Given the description of an element on the screen output the (x, y) to click on. 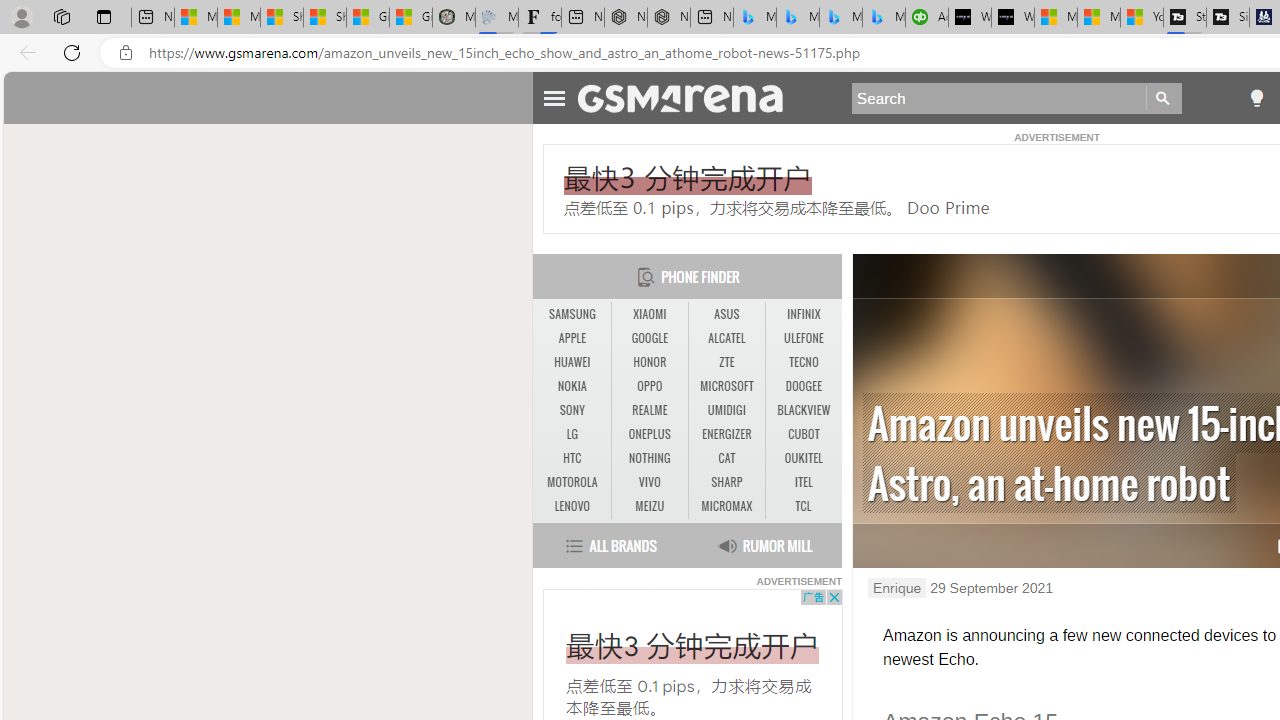
AutomationID: anchor (689, 97)
NOTHING (649, 457)
MEIZU (649, 506)
MOTOROLA (571, 482)
ZTE (726, 362)
INFINIX (803, 314)
OPPO (649, 386)
OUKITEL (803, 457)
HTC (571, 458)
MEIZU (649, 506)
Go (1163, 97)
ASUS (726, 313)
